Given the description of an element on the screen output the (x, y) to click on. 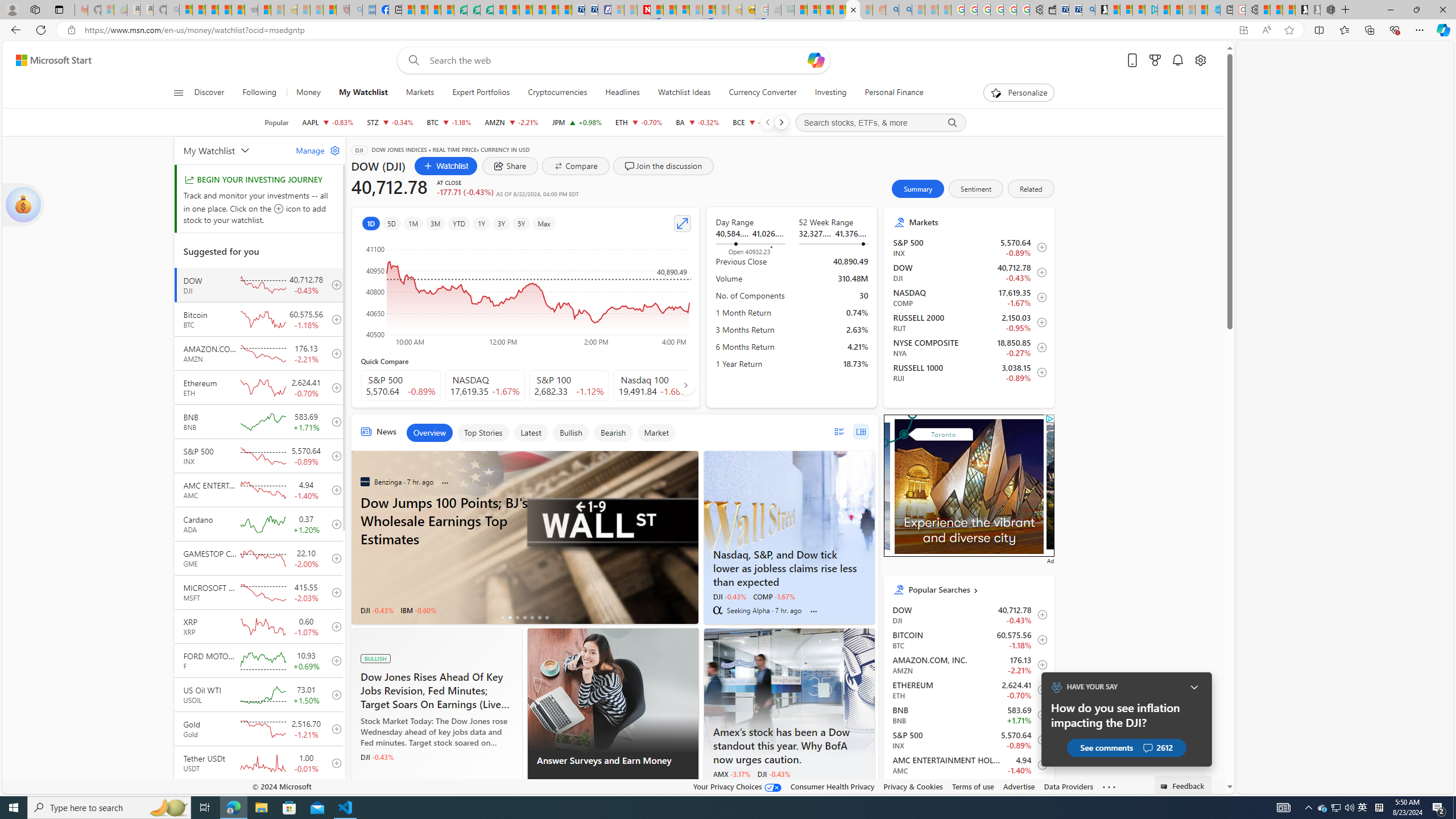
Microsoft Word - consumer-privacy address update 2.2021 (486, 9)
Investor's Business Daily (364, 786)
Answer Surveys and Earn Money (611, 766)
